Given the description of an element on the screen output the (x, y) to click on. 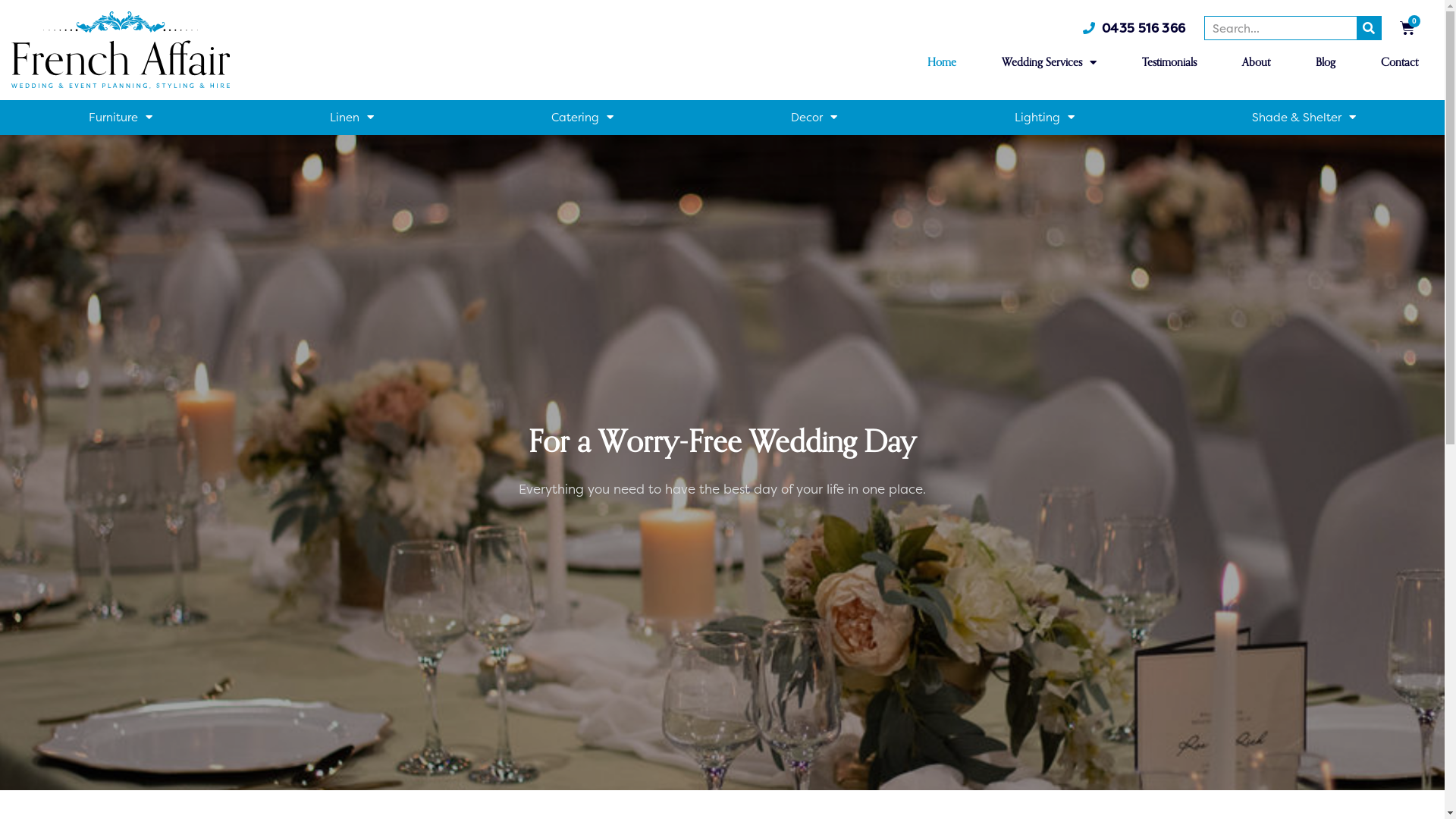
About Element type: text (1255, 61)
Shade & Shelter Element type: text (1303, 117)
Contact Element type: text (1399, 61)
Catering Element type: text (582, 117)
Search Element type: hover (1368, 27)
0435 516 366 Element type: text (1134, 27)
Wedding Services Element type: text (1048, 61)
Lighting Element type: text (1044, 117)
Blog Element type: text (1325, 61)
Search Element type: hover (1280, 27)
Testimonials Element type: text (1168, 61)
Furniture Element type: text (120, 117)
Home Element type: text (941, 61)
Linen Element type: text (351, 117)
Decor Element type: text (813, 117)
